Given the description of an element on the screen output the (x, y) to click on. 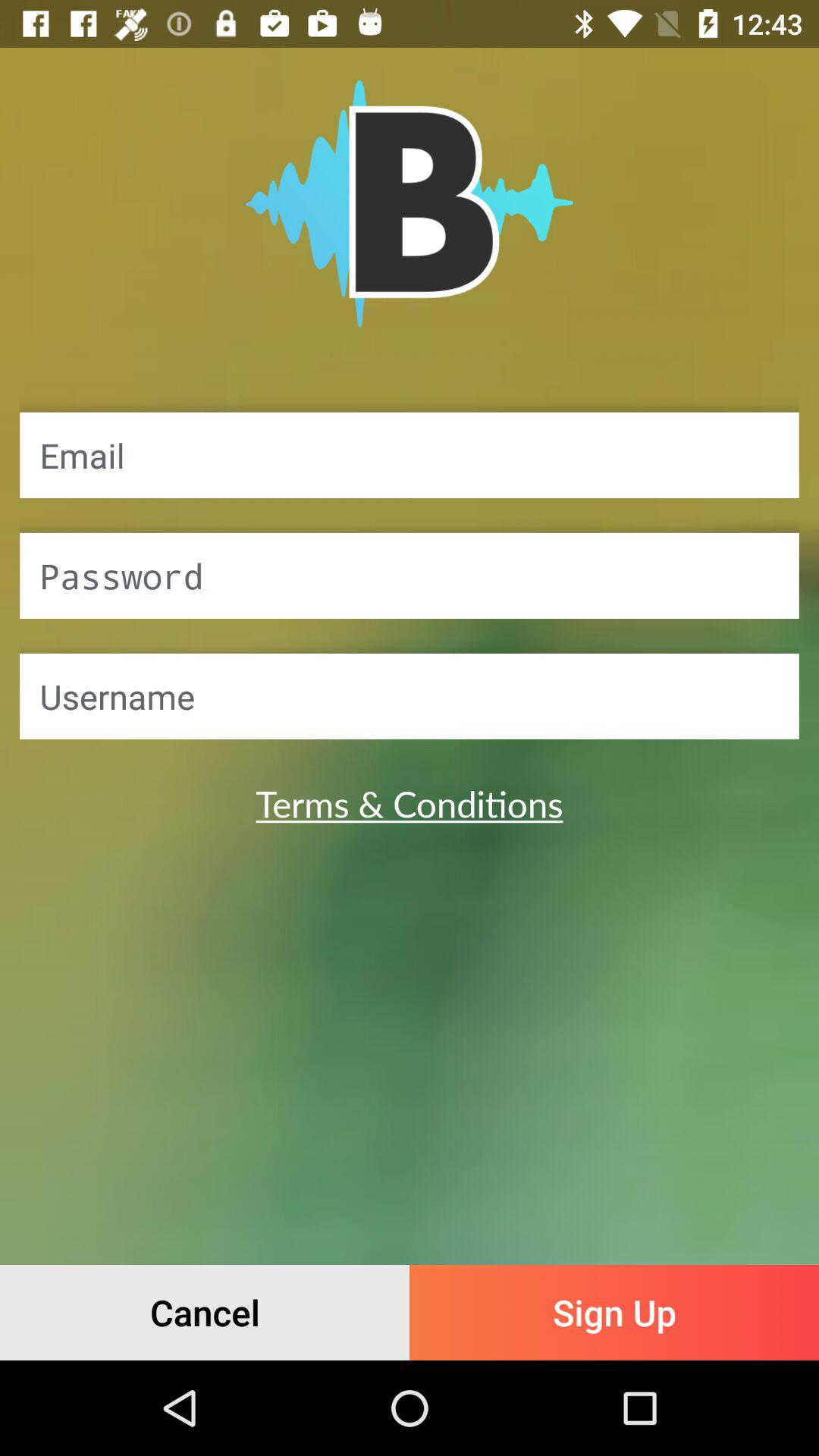
select terms & conditions item (409, 803)
